Given the description of an element on the screen output the (x, y) to click on. 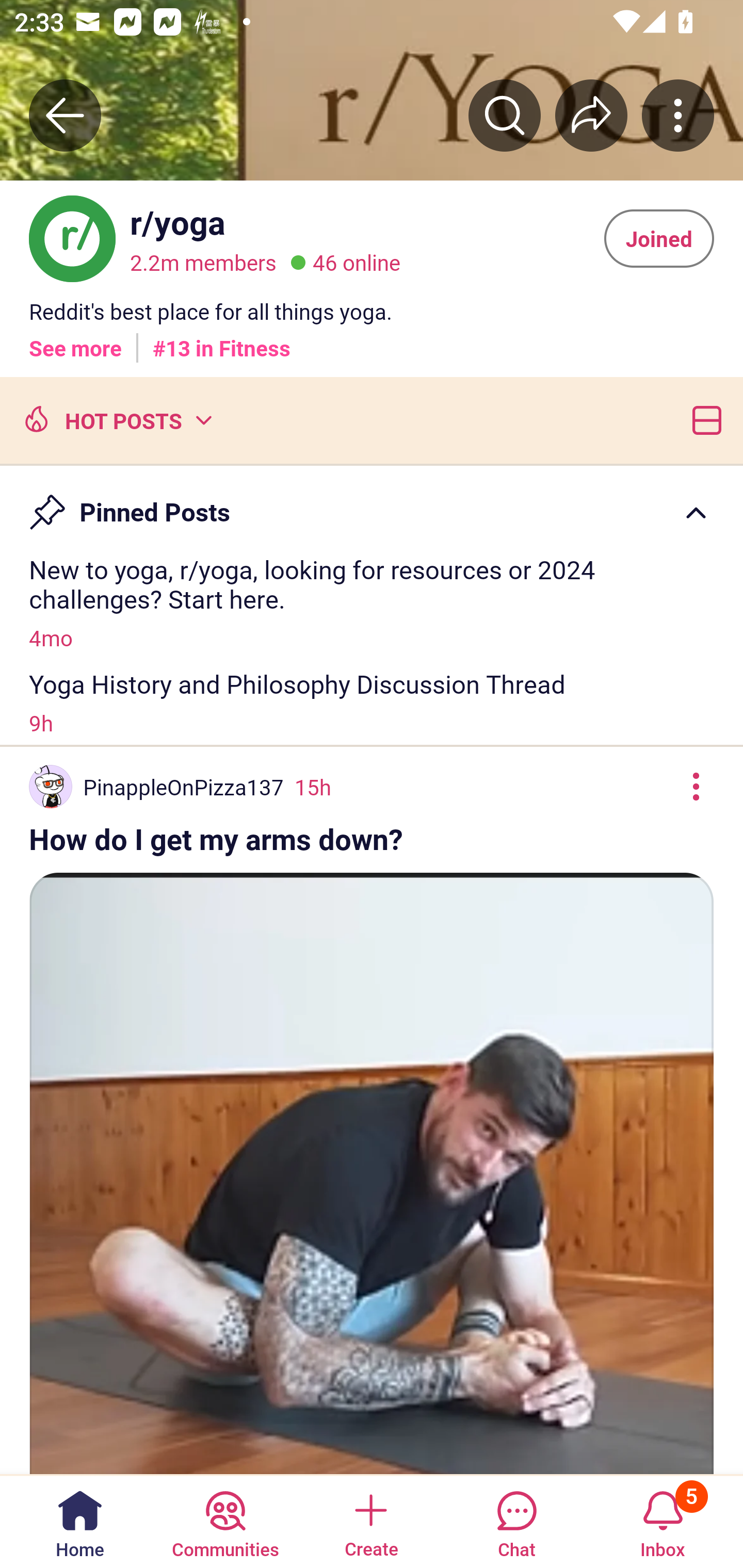
Back (64, 115)
Search r/﻿yoga (504, 115)
Share r/﻿yoga (591, 115)
More community actions (677, 115)
See more (74, 340)
#13 in Fitness (221, 340)
Hot posts HOT POSTS (116, 419)
Card (703, 419)
Pin Pinned Posts Caret (371, 503)
Yoga History and Philosophy Discussion Thread 9h (371, 702)
Home (80, 1520)
Communities (225, 1520)
Create a post Create (370, 1520)
Chat (516, 1520)
Inbox, has 5 notifications 5 Inbox (662, 1520)
